Given the description of an element on the screen output the (x, y) to click on. 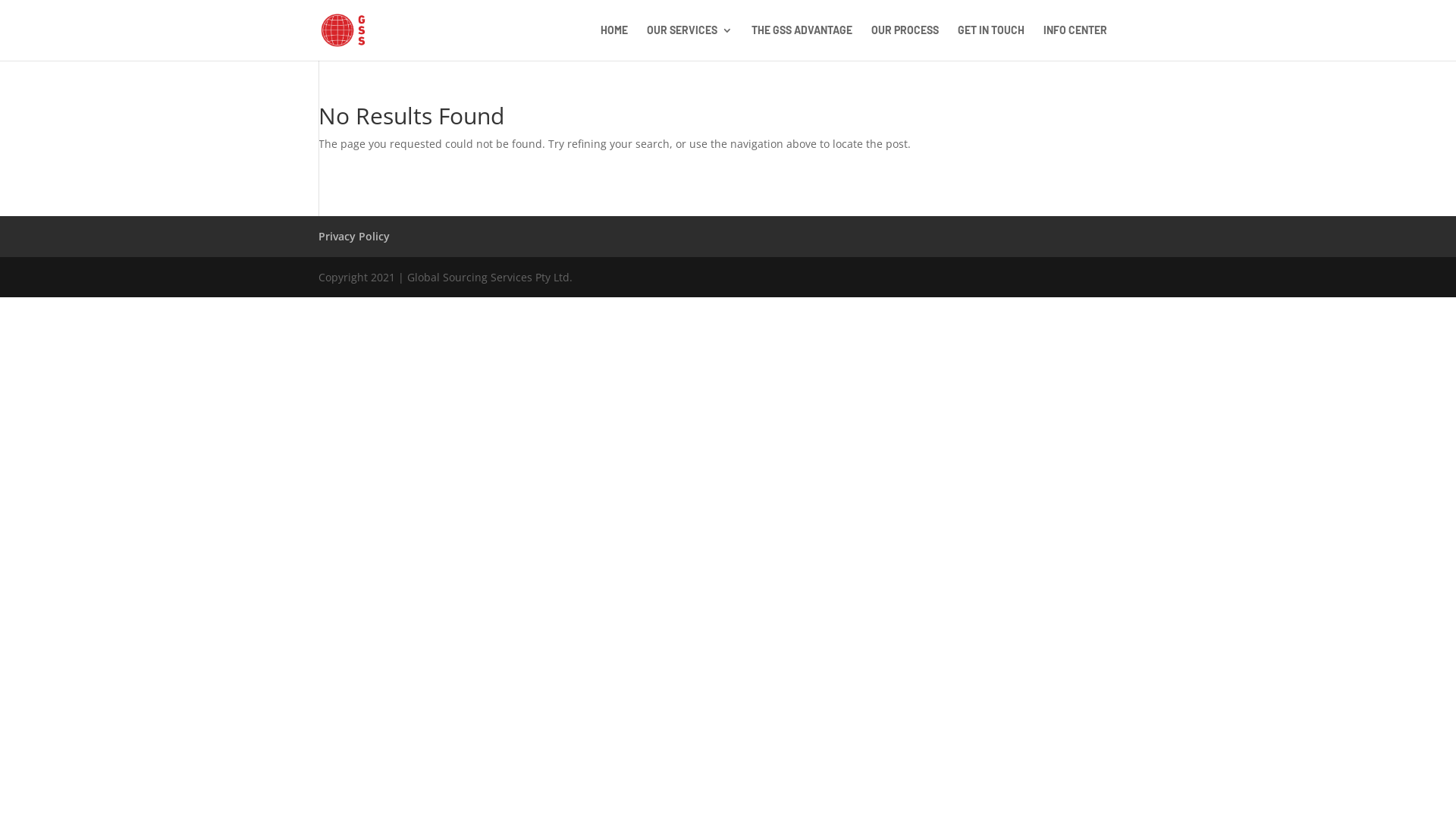
Privacy Policy Element type: text (353, 236)
OUR PROCESS Element type: text (904, 42)
THE GSS ADVANTAGE Element type: text (801, 42)
INFO CENTER Element type: text (1075, 42)
GET IN TOUCH Element type: text (990, 42)
OUR SERVICES Element type: text (689, 42)
HOME Element type: text (613, 42)
